Given the description of an element on the screen output the (x, y) to click on. 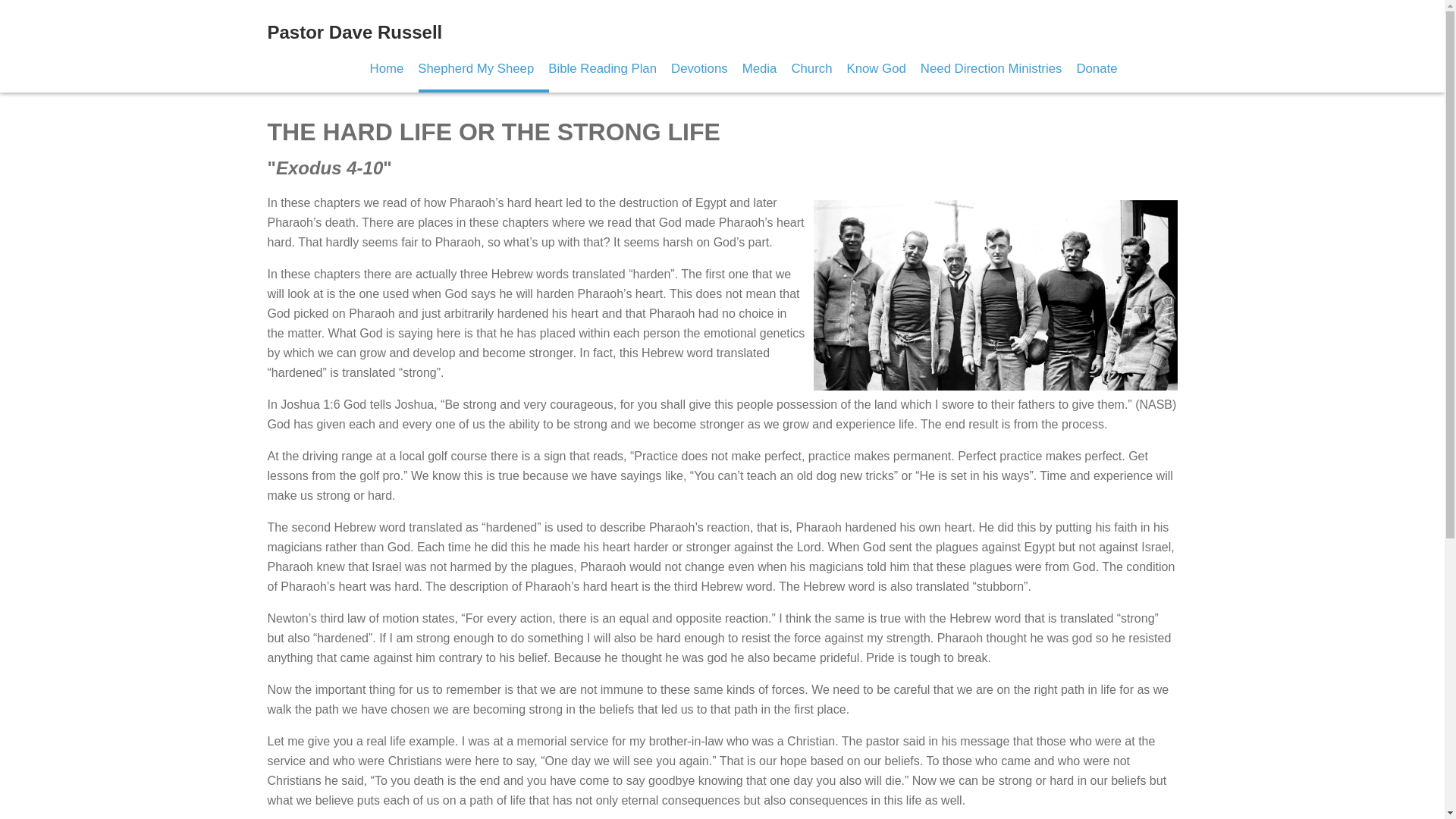
Shepherd My Sheep (475, 68)
Donate (1095, 68)
Bible Reading Plan (602, 68)
Church (810, 68)
Know God (875, 68)
Devotions (699, 68)
Need Direction Ministries (991, 68)
Home (386, 68)
Media (759, 68)
